Given the description of an element on the screen output the (x, y) to click on. 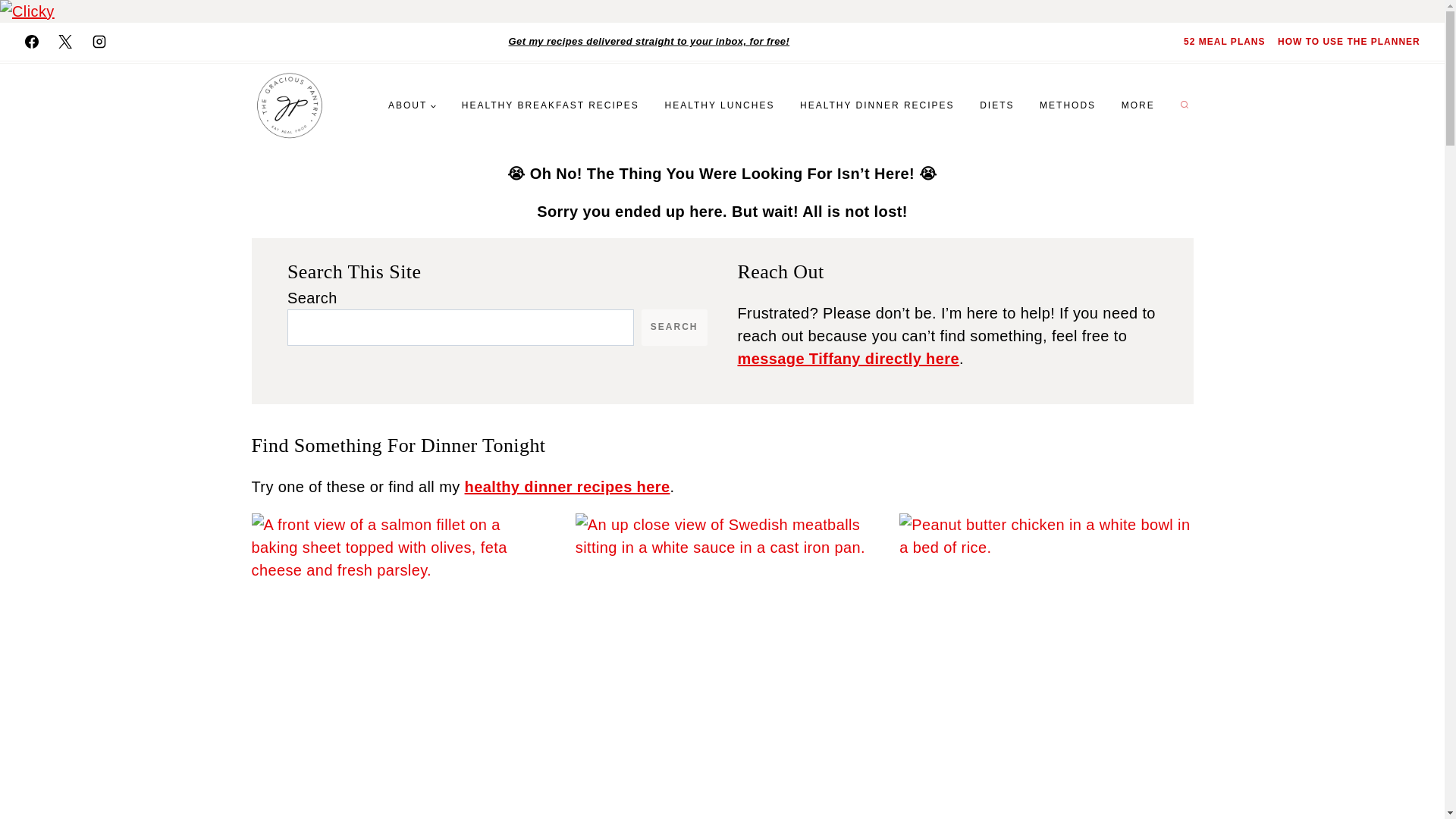
healthy dinner recipes here (566, 486)
METHODS (1067, 105)
HEALTHY DINNER RECIPES (876, 105)
 External link. Opens in a new tab. (31, 41)
MORE (1137, 105)
 External link. Opens in a new tab. (99, 41)
Get my recipes delivered straight to your inbox, for free! (649, 41)
HEALTHY BREAKFAST RECIPES (550, 105)
ABOUT (411, 105)
SEARCH (674, 327)
52 MEAL PLANS (1224, 41)
DIETS (996, 105)
HOW TO USE THE PLANNER (1348, 41)
HEALTHY LUNCHES (719, 105)
 External link. Opens in a new tab. (64, 41)
